Given the description of an element on the screen output the (x, y) to click on. 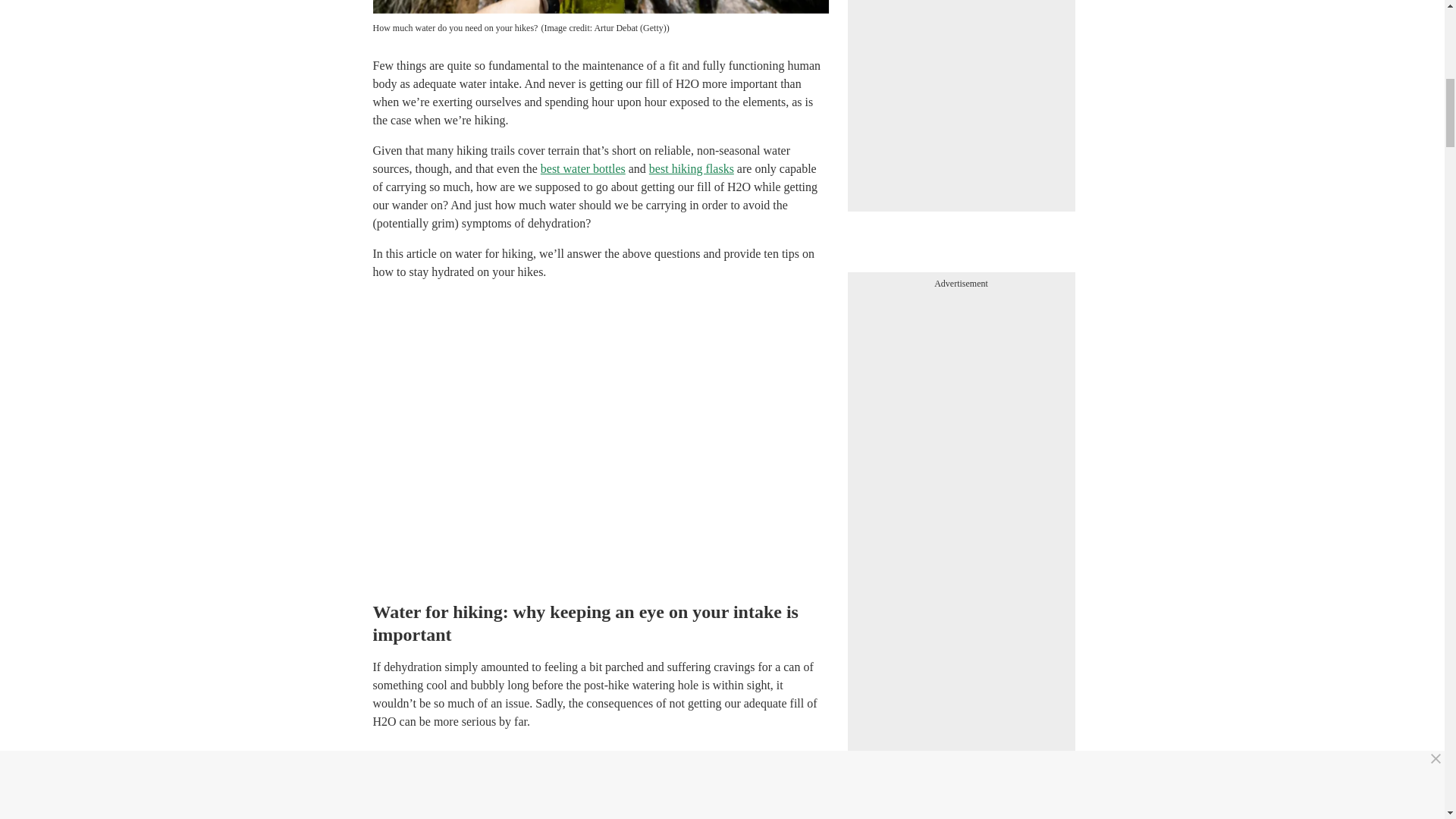
best hiking flasks (691, 168)
best water bottles (583, 168)
